Given the description of an element on the screen output the (x, y) to click on. 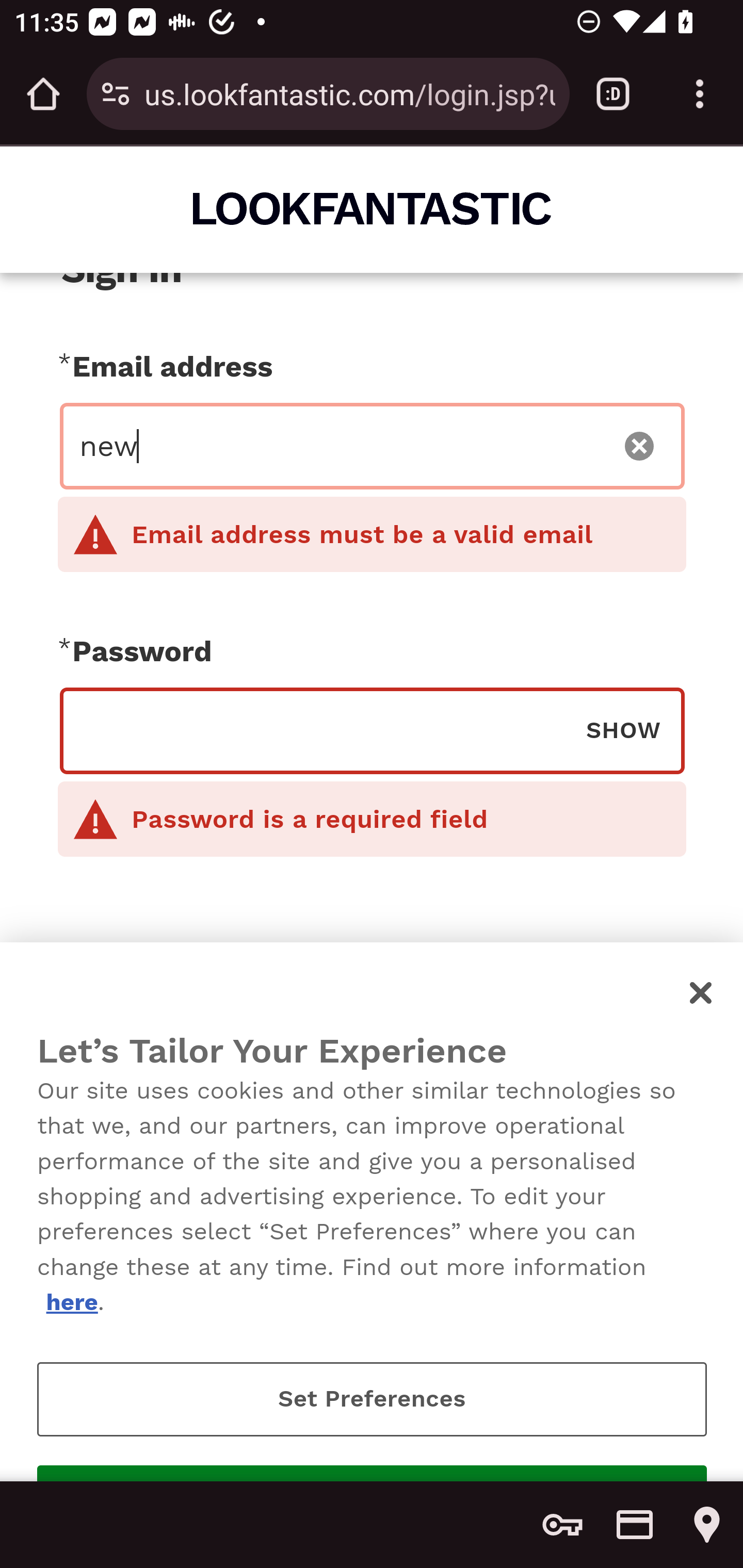
Open the home page (43, 93)
Connection is secure (115, 93)
Switch or close tabs (612, 93)
Customize and control Google Chrome (699, 93)
Lookfantastic USA Home page (372, 208)
new (339, 445)
Clear field (639, 445)
Show Password (623, 729)
Close (701, 992)
Sign in to your account (371, 1070)
here (71, 1302)
Set Preferences (372, 1399)
Show saved passwords and password options (562, 1524)
Show saved payment methods (634, 1524)
Show saved addresses (706, 1524)
